Given the description of an element on the screen output the (x, y) to click on. 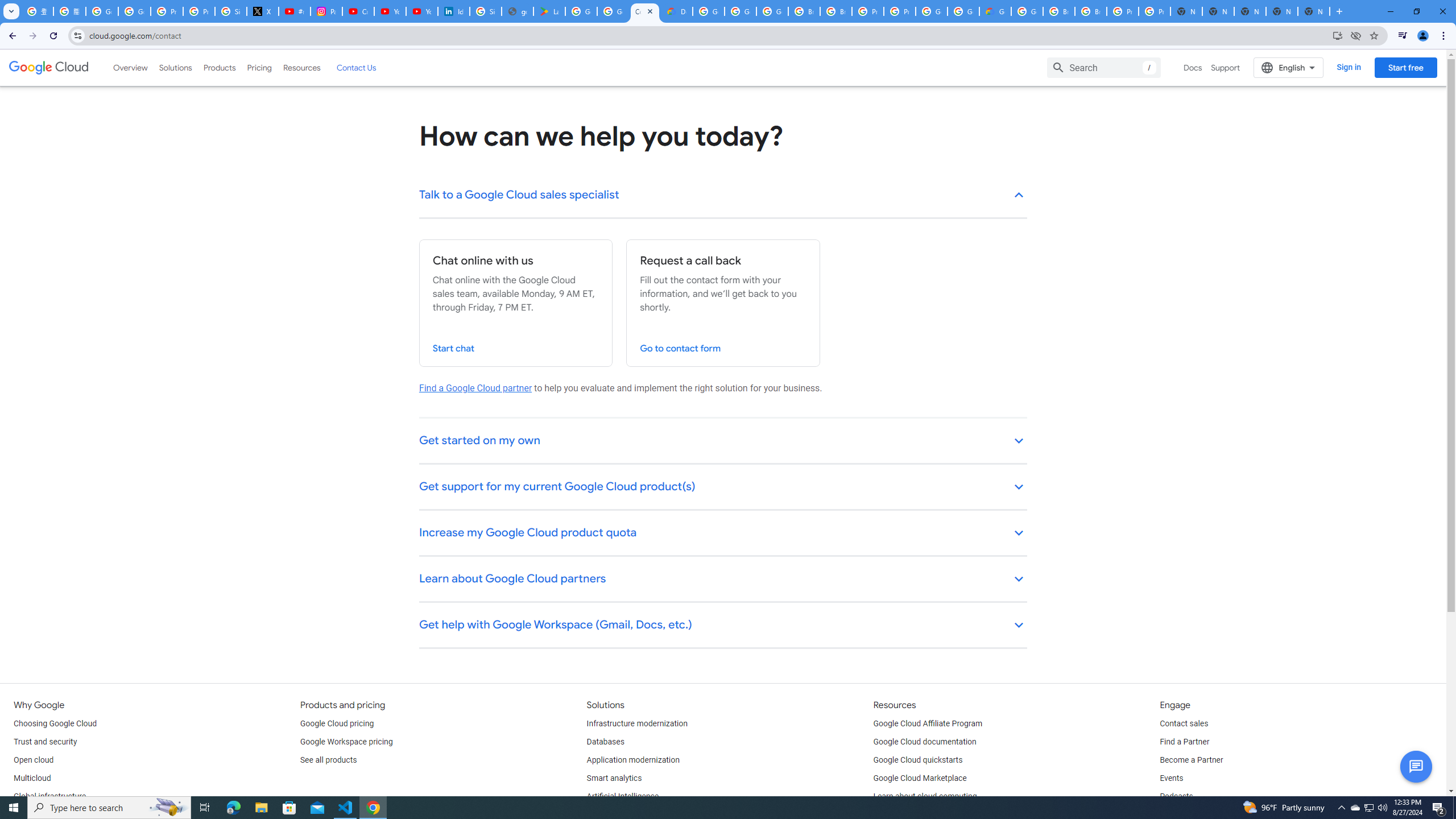
Choosing Google Cloud (55, 723)
Button to activate chat (1416, 766)
Pricing (259, 67)
Search (1103, 67)
Learn about Google Cloud partners keyboard_arrow_down (723, 579)
Talk to a Google Cloud sales specialist keyboard_arrow_up (723, 195)
Last Shelter: Survival - Apps on Google Play (549, 11)
Smart analytics (614, 778)
Application modernization (632, 760)
X (262, 11)
